Given the description of an element on the screen output the (x, y) to click on. 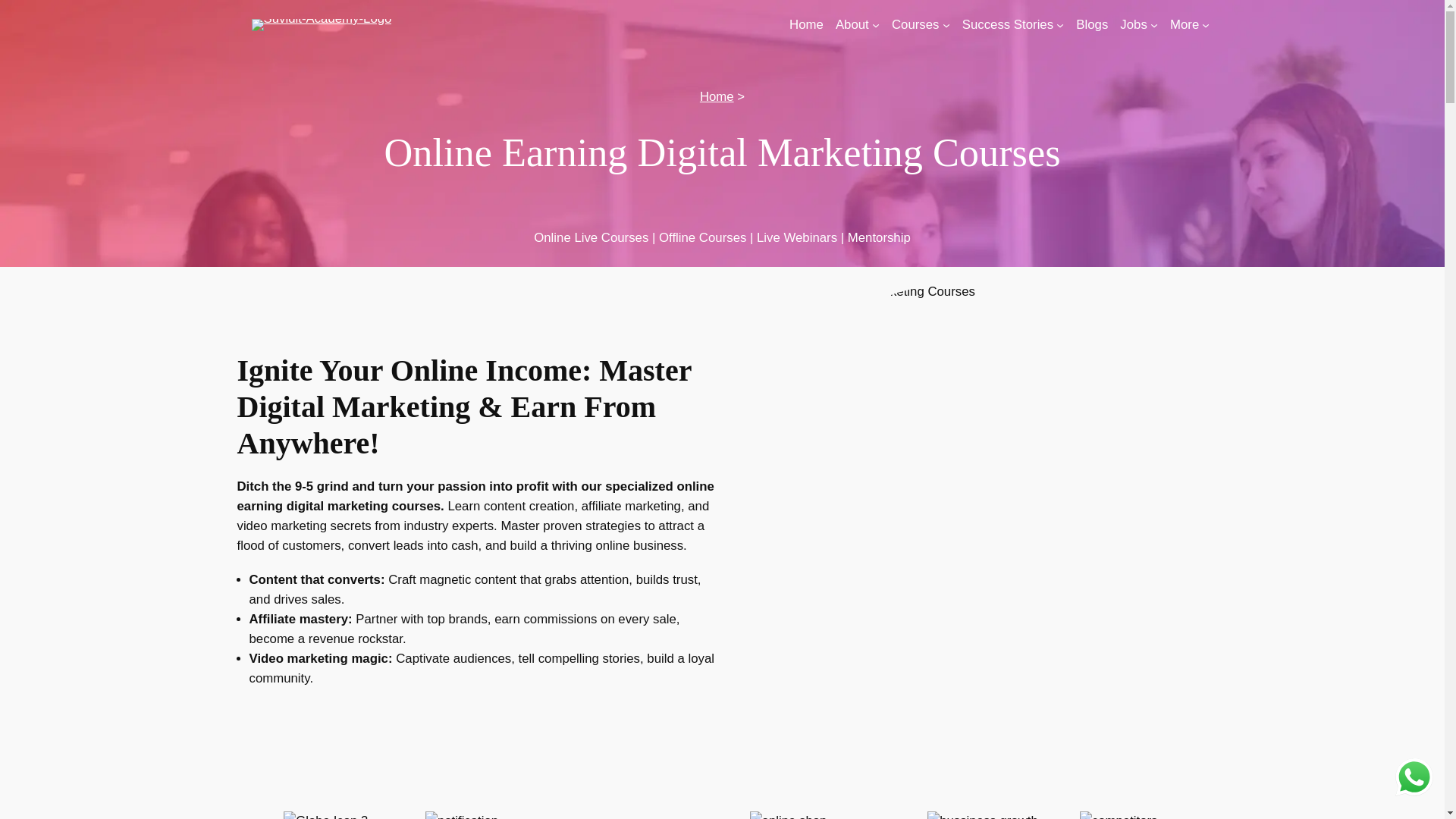
WhatsApp us (1413, 777)
Courses (915, 25)
Success Stories (1007, 25)
Home (806, 25)
Blogs (1091, 25)
About (852, 25)
More (1184, 25)
Go to Suvidit Academy. (716, 96)
Jobs (1133, 25)
